Given the description of an element on the screen output the (x, y) to click on. 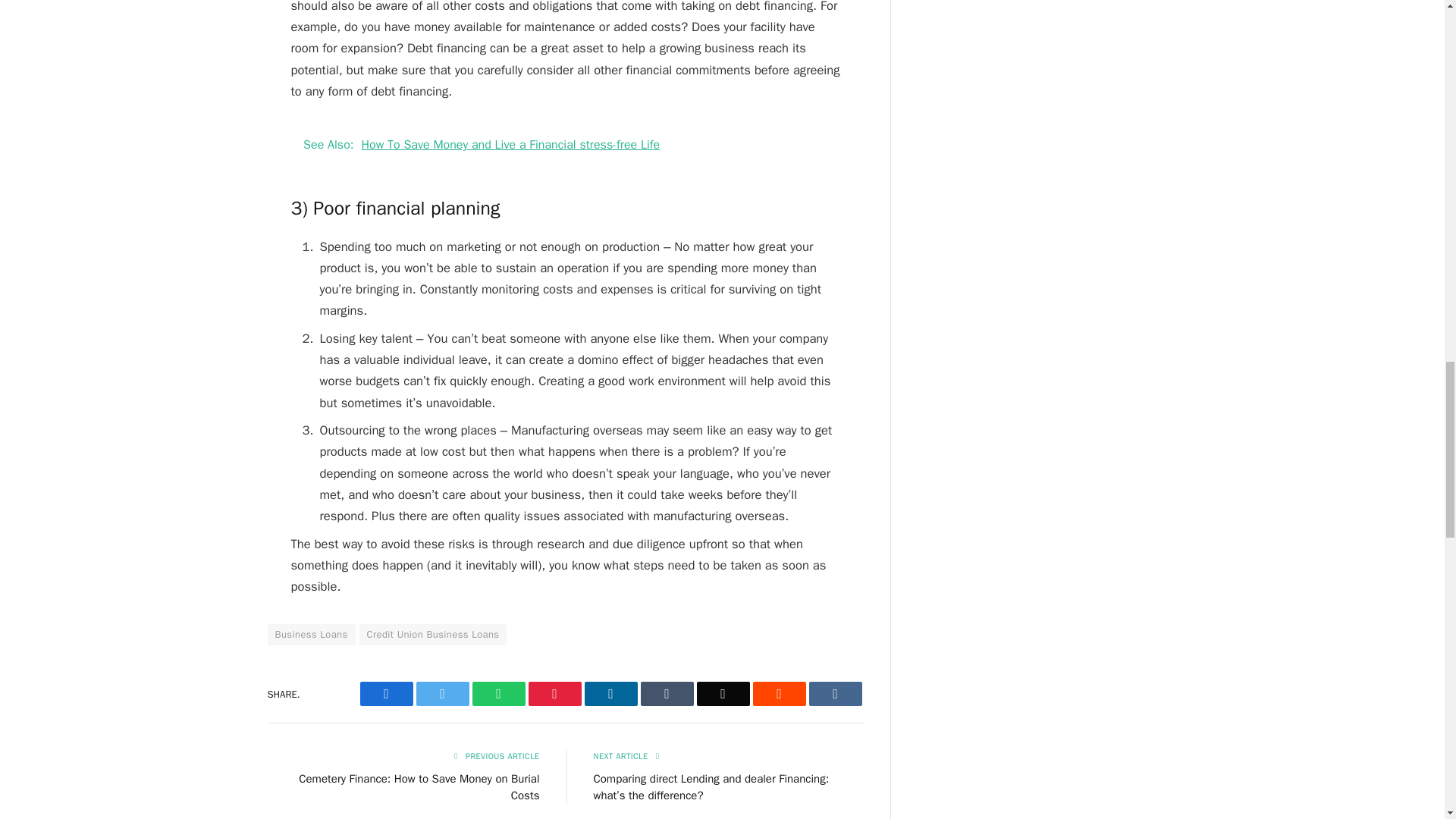
Cemetery Finance: How to Save Money on Burial Costs (418, 787)
Tumblr (666, 693)
Business Loans (310, 634)
Pinterest (553, 693)
Reddit (778, 693)
Email (722, 693)
LinkedIn (610, 693)
VKontakte (834, 693)
Credit Union Business Loans (432, 634)
